Given the description of an element on the screen output the (x, y) to click on. 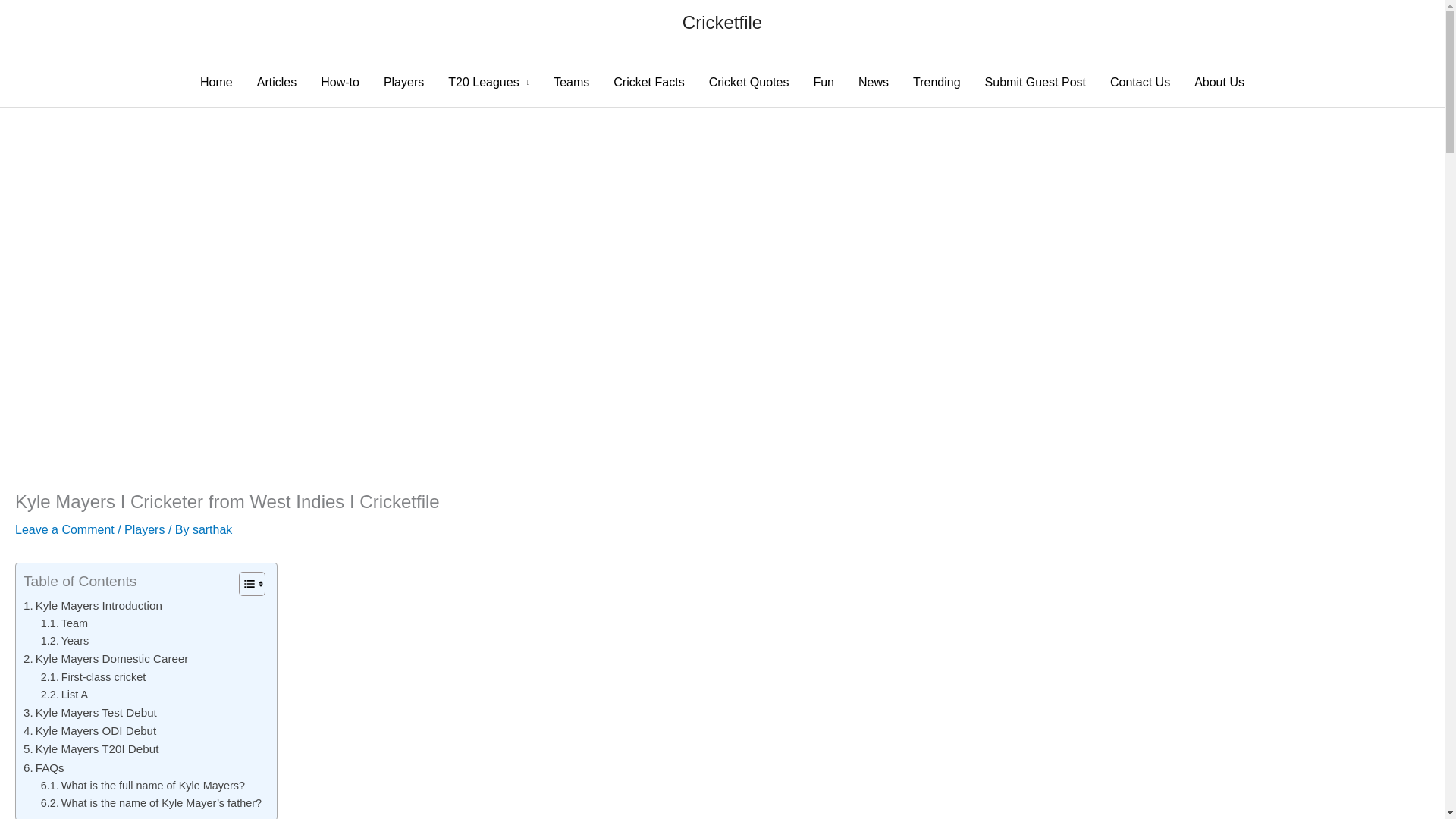
List A (63, 694)
Leave a Comment (64, 529)
Kyle Mayers Test Debut (90, 712)
Teams (571, 82)
Cricket Quotes (749, 82)
About Us (1219, 82)
List A (63, 694)
Fun (822, 82)
Years (64, 641)
View all posts by sarthak (211, 529)
Players (403, 82)
sarthak (211, 529)
Kyle Mayers T20I Debut (90, 749)
FAQs (43, 768)
Cricket Facts (648, 82)
